Given the description of an element on the screen output the (x, y) to click on. 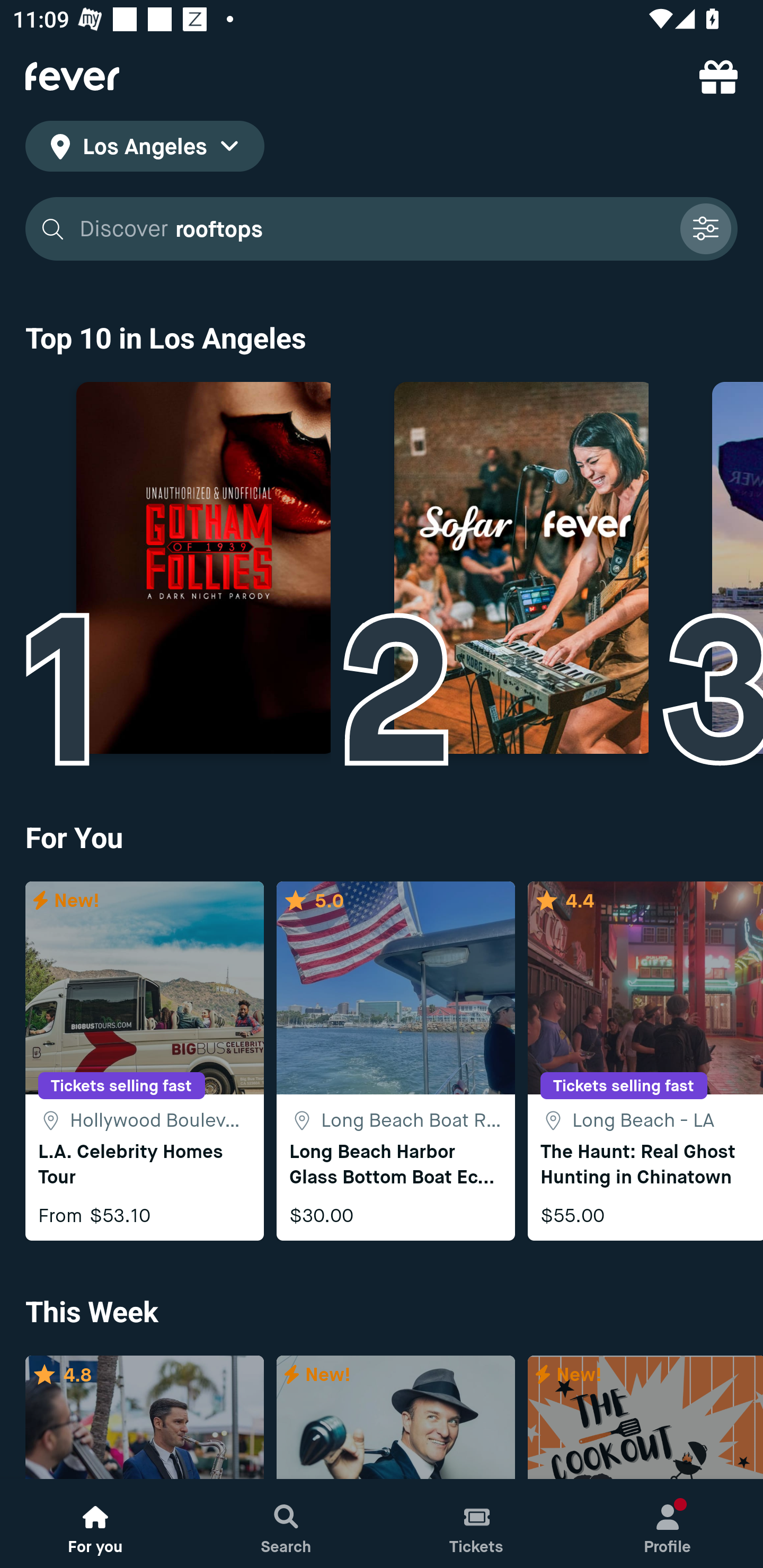
referral (718, 75)
location icon Los Angeles location icon (144, 149)
Discover rooftops (381, 228)
Discover rooftops (373, 228)
Search (285, 1523)
Tickets (476, 1523)
Profile, New notification Profile (667, 1523)
